Given the description of an element on the screen output the (x, y) to click on. 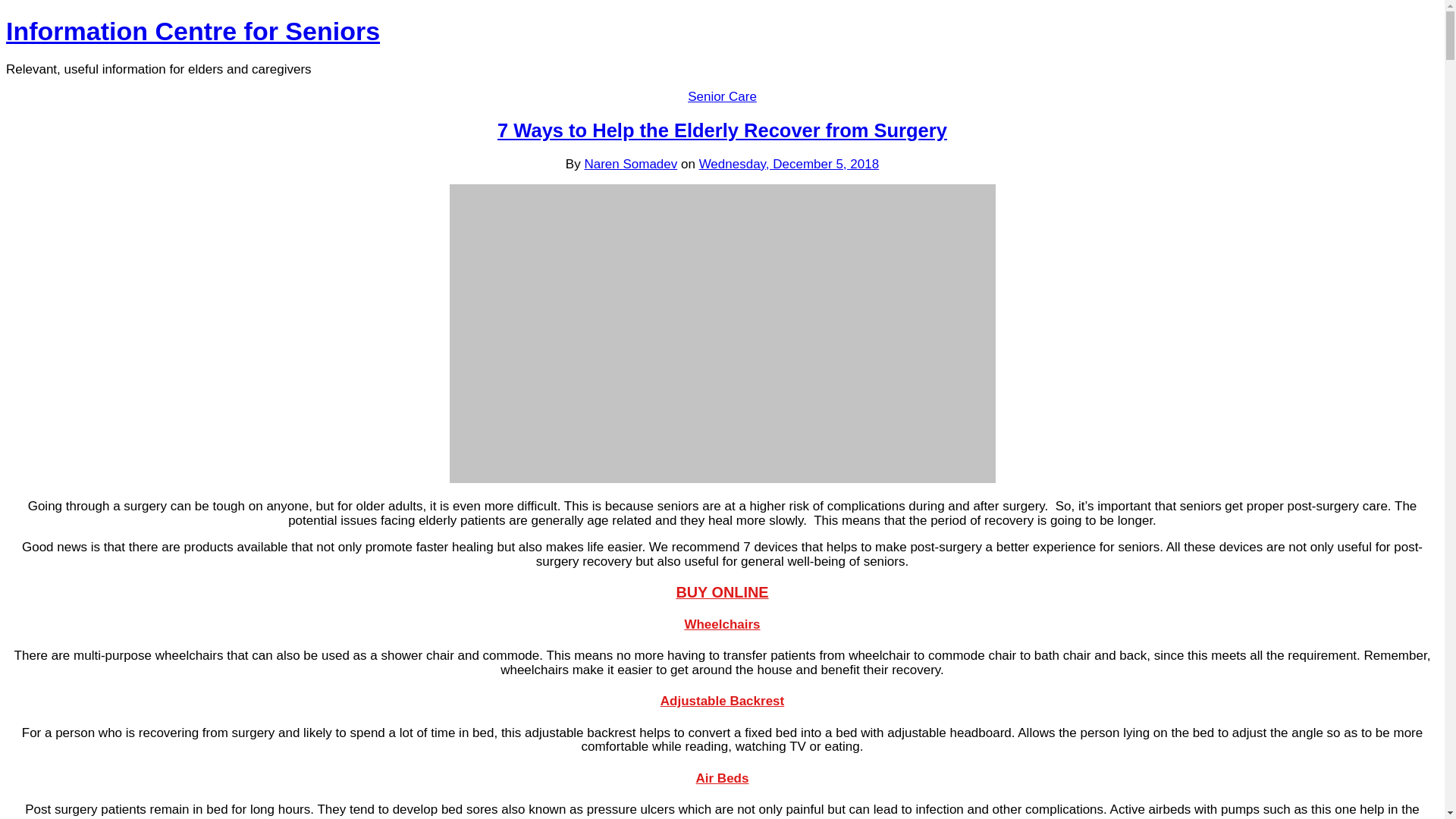
7 Ways to Help the Elderly Recover from Surgery (722, 129)
Air Beds (722, 778)
Posts by Naren Somadev (630, 164)
Wednesday, December 5, 2018 (788, 164)
BUY ONLINE (721, 591)
Adjustable Backrest (722, 700)
Wheelchairs (722, 624)
Information Centre for Seniors (192, 30)
Senior Care (722, 96)
Naren Somadev (630, 164)
